Given the description of an element on the screen output the (x, y) to click on. 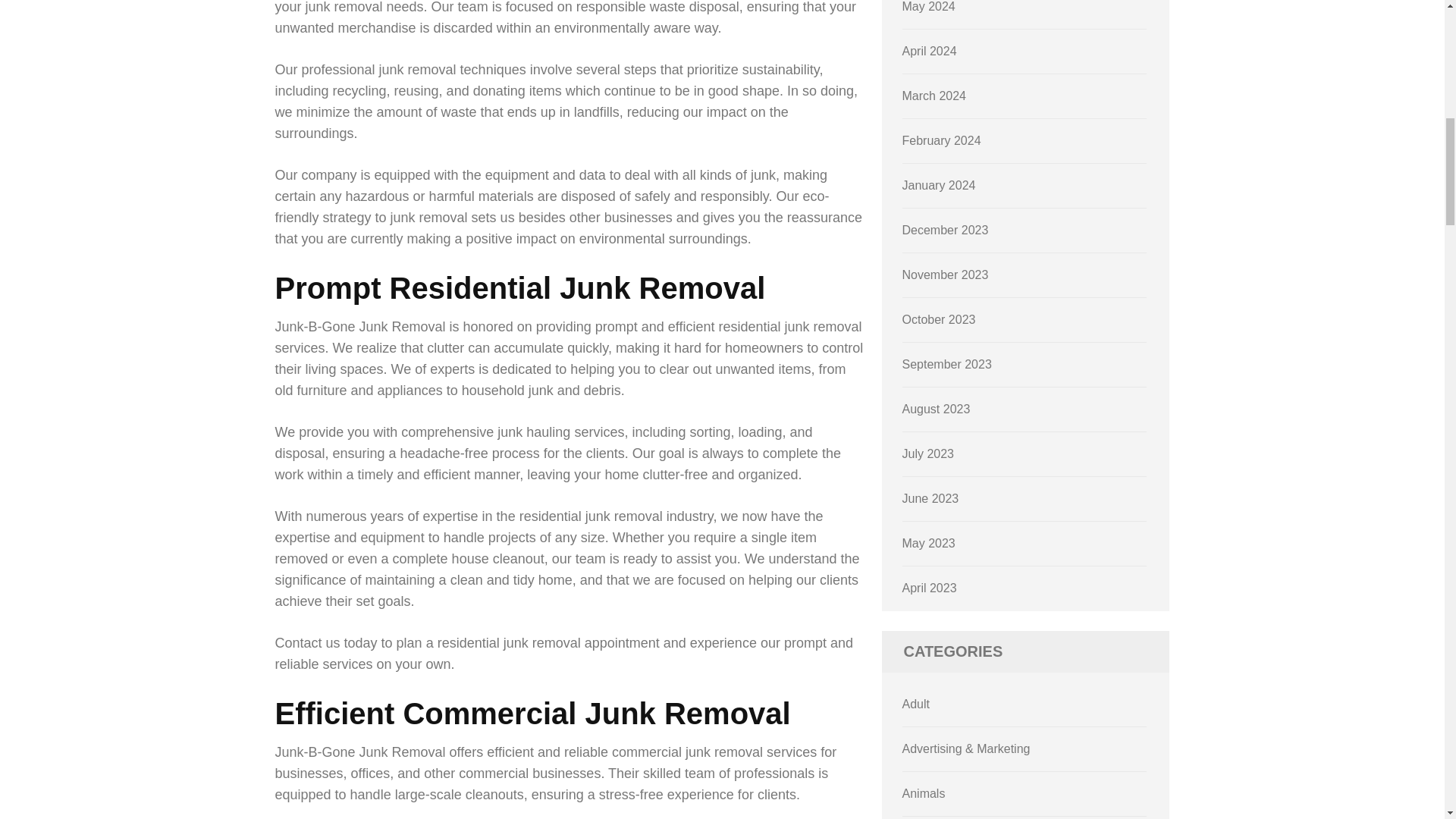
Adult (916, 703)
March 2024 (934, 95)
December 2023 (945, 229)
May 2024 (928, 6)
August 2023 (936, 408)
July 2023 (928, 453)
April 2023 (929, 587)
September 2023 (946, 364)
January 2024 (938, 185)
October 2023 (938, 318)
